Given the description of an element on the screen output the (x, y) to click on. 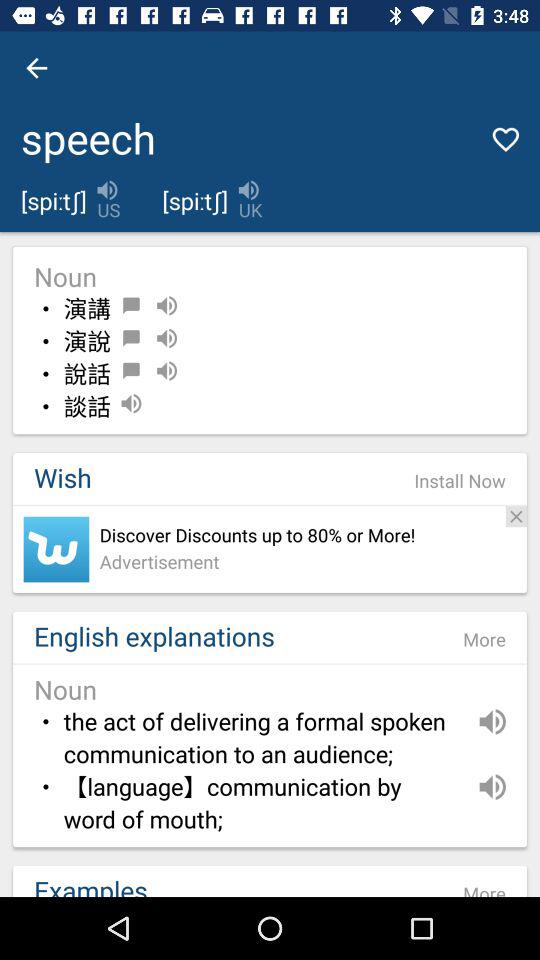
click the item above english explanations item (56, 549)
